Given the description of an element on the screen output the (x, y) to click on. 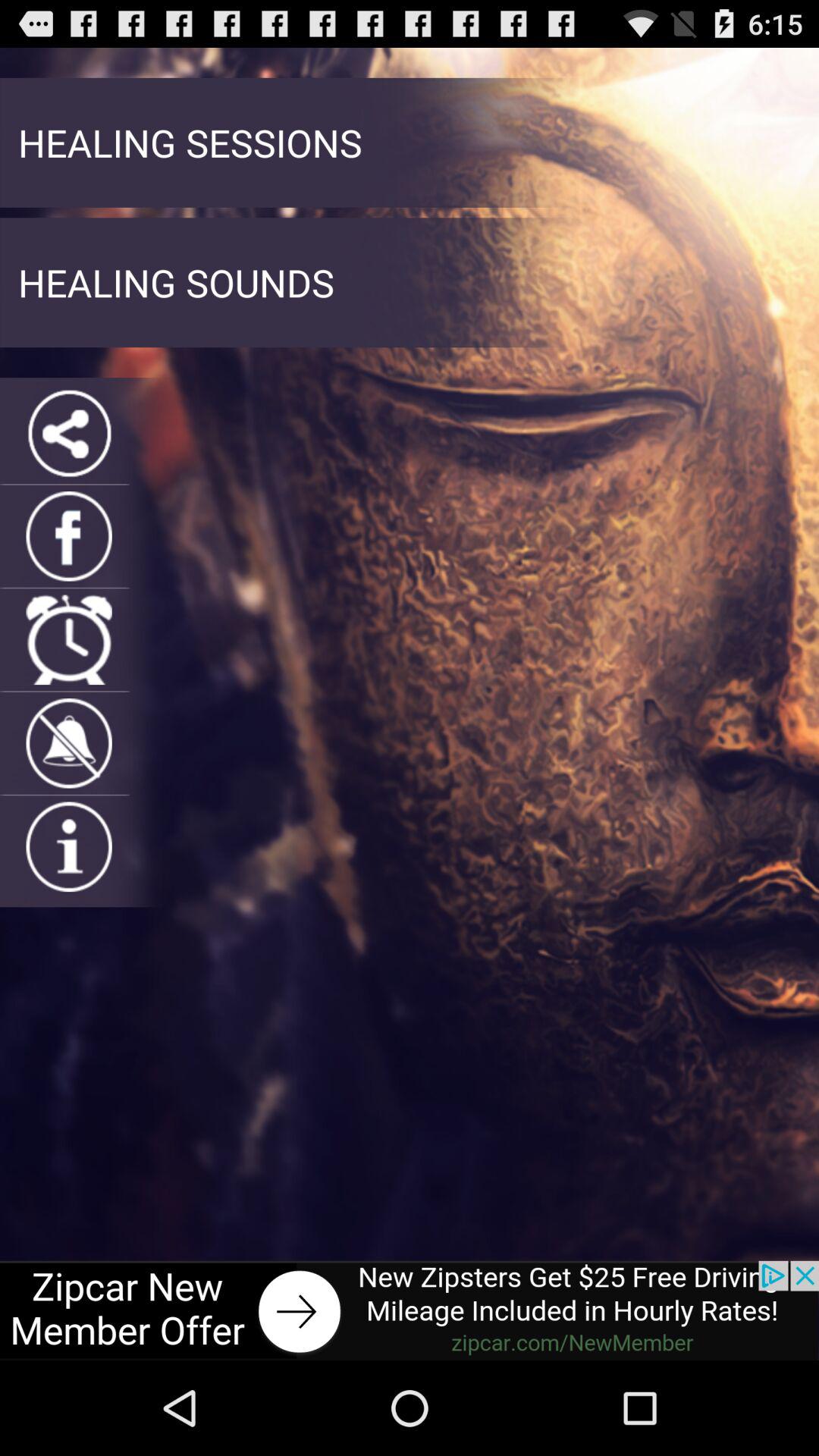
open informations page (69, 846)
